Given the description of an element on the screen output the (x, y) to click on. 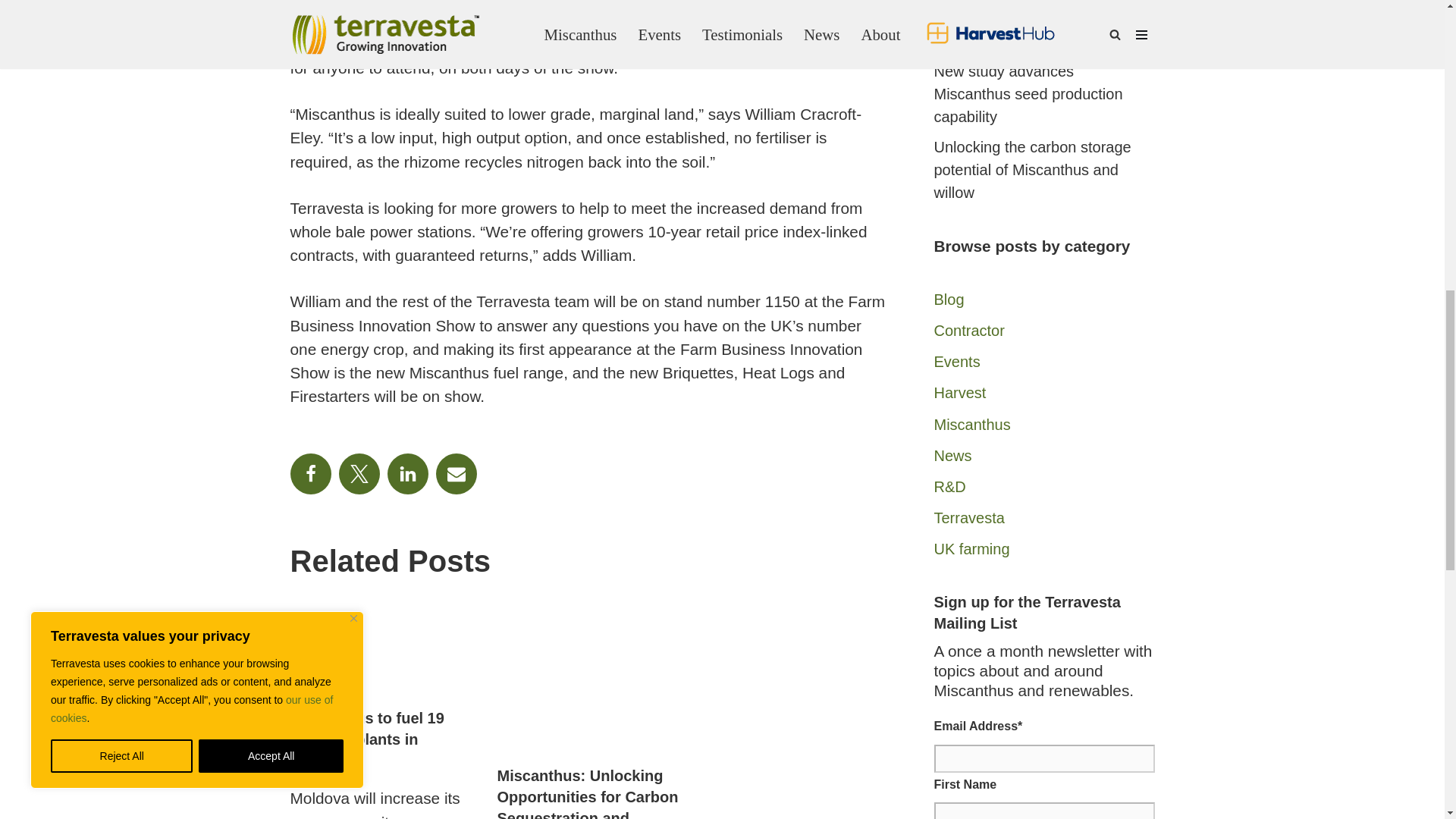
LinkedIn (407, 473)
Twitter (357, 473)
Email (455, 473)
Facebook (309, 473)
